Given the description of an element on the screen output the (x, y) to click on. 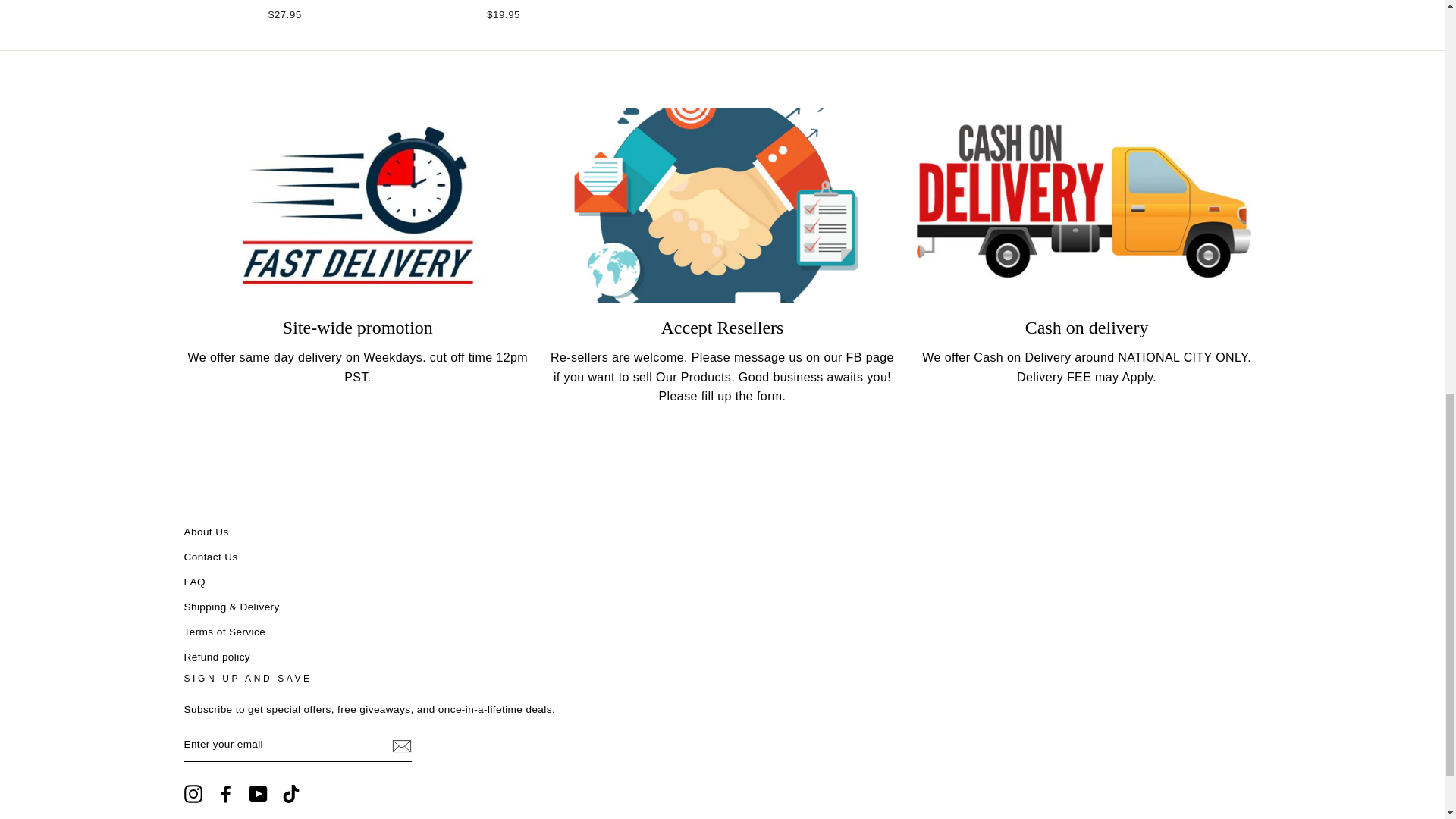
Skin Magical USA on TikTok (290, 793)
Skin Magical USA on YouTube (257, 793)
Skin Magical USA on Instagram (192, 793)
Skin Magical USA on Facebook (225, 793)
